Given the description of an element on the screen output the (x, y) to click on. 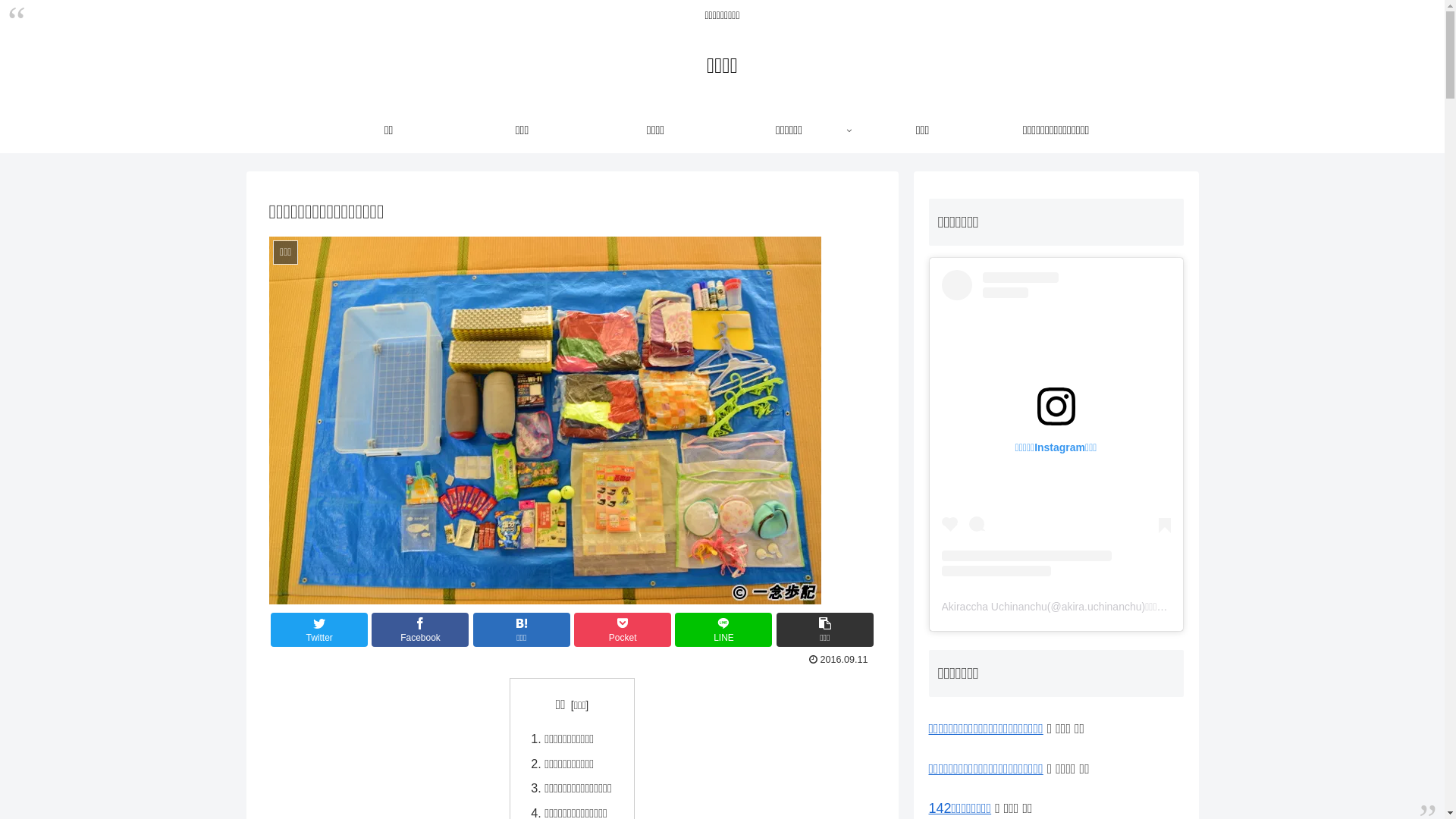
Pocket Element type: text (622, 629)
LINE Element type: text (722, 629)
Twitter Element type: text (318, 629)
Facebook Element type: text (419, 629)
